Given the description of an element on the screen output the (x, y) to click on. 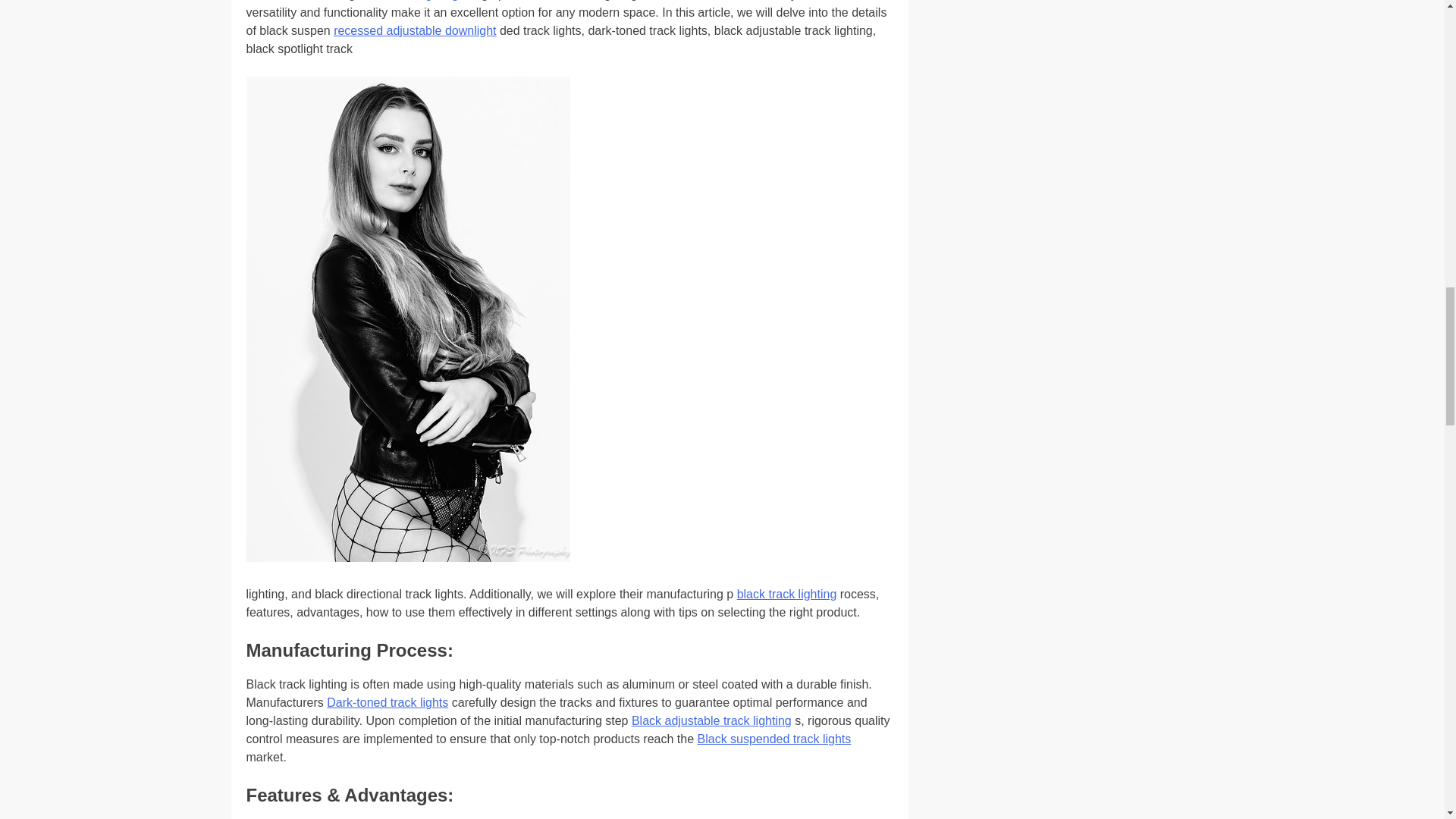
Black suspended track lights (774, 738)
black track lighting (786, 594)
Black adjustable track lighting (711, 720)
recessed adjustable downlight (414, 30)
Dark-toned track lights (387, 702)
